Given the description of an element on the screen output the (x, y) to click on. 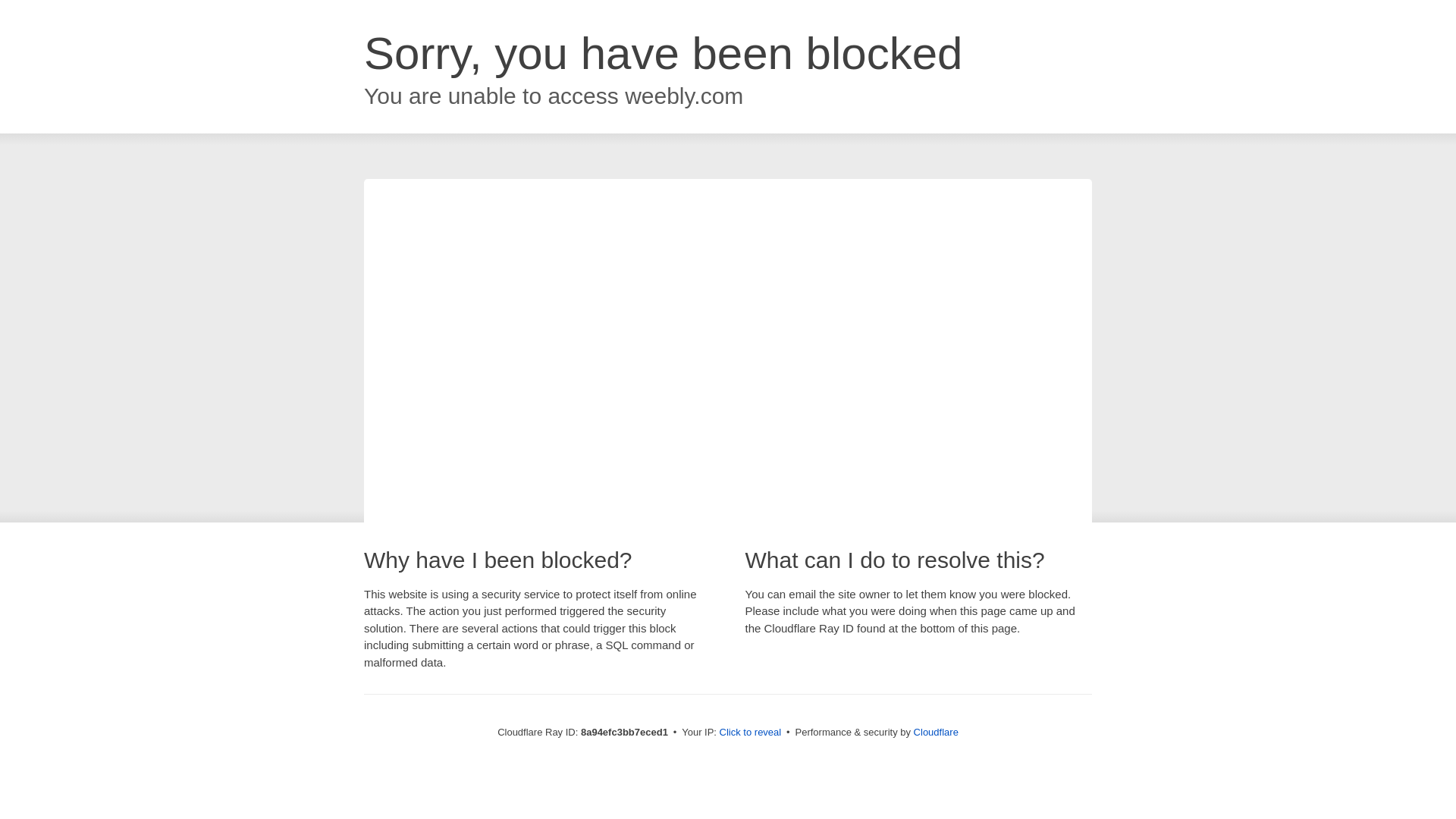
Cloudflare (936, 731)
Click to reveal (750, 732)
